Given the description of an element on the screen output the (x, y) to click on. 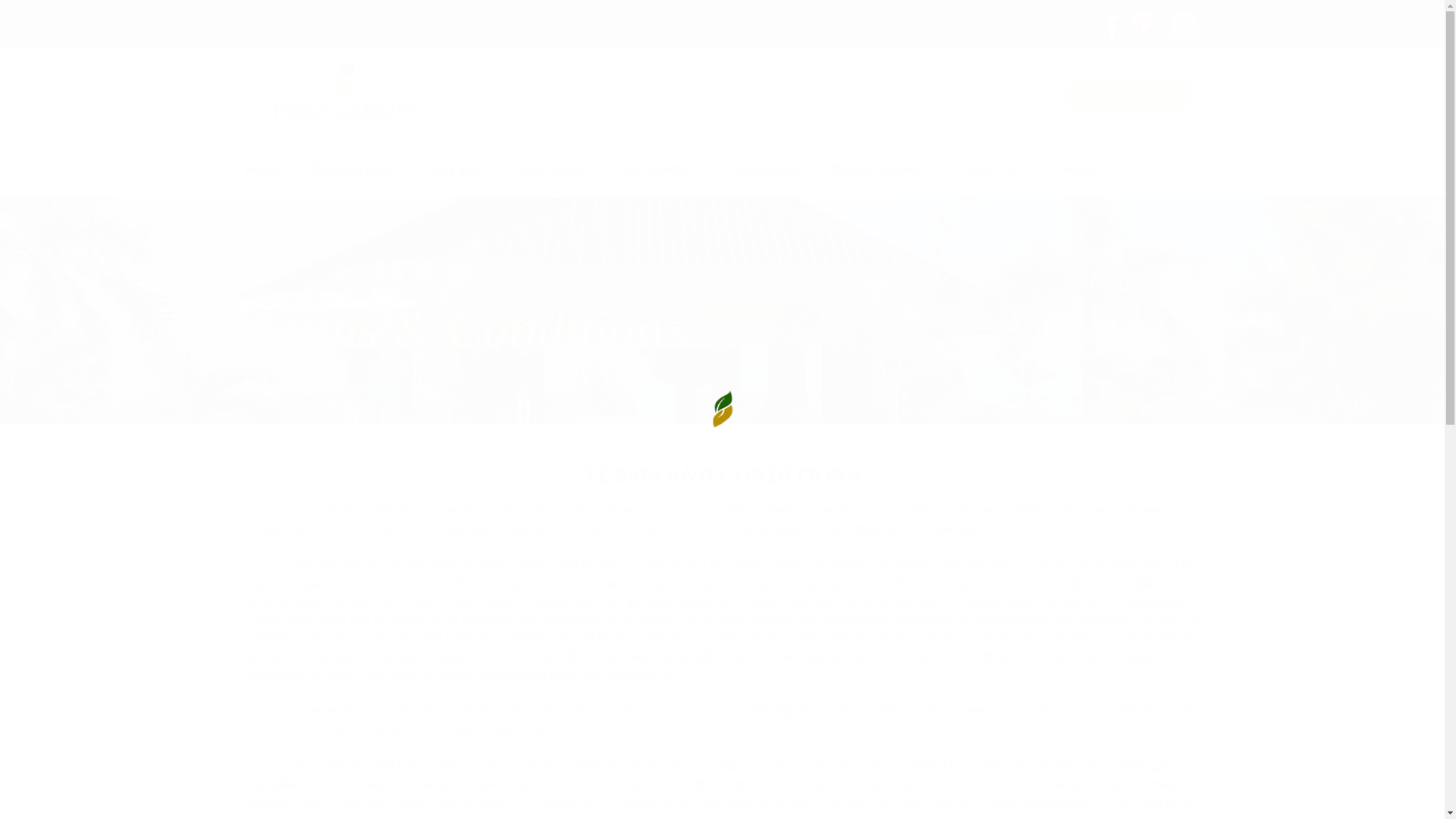
Your Benefits (656, 169)
My Cart (1074, 168)
Sign In (1128, 94)
Home (272, 377)
Columbarium (761, 169)
Our Products (550, 169)
Subscribe to our channel on Youtube! (1147, 24)
Follow us on Facebook! (1110, 24)
Contact Us (984, 169)
Our Parks (453, 169)
